Given the description of an element on the screen output the (x, y) to click on. 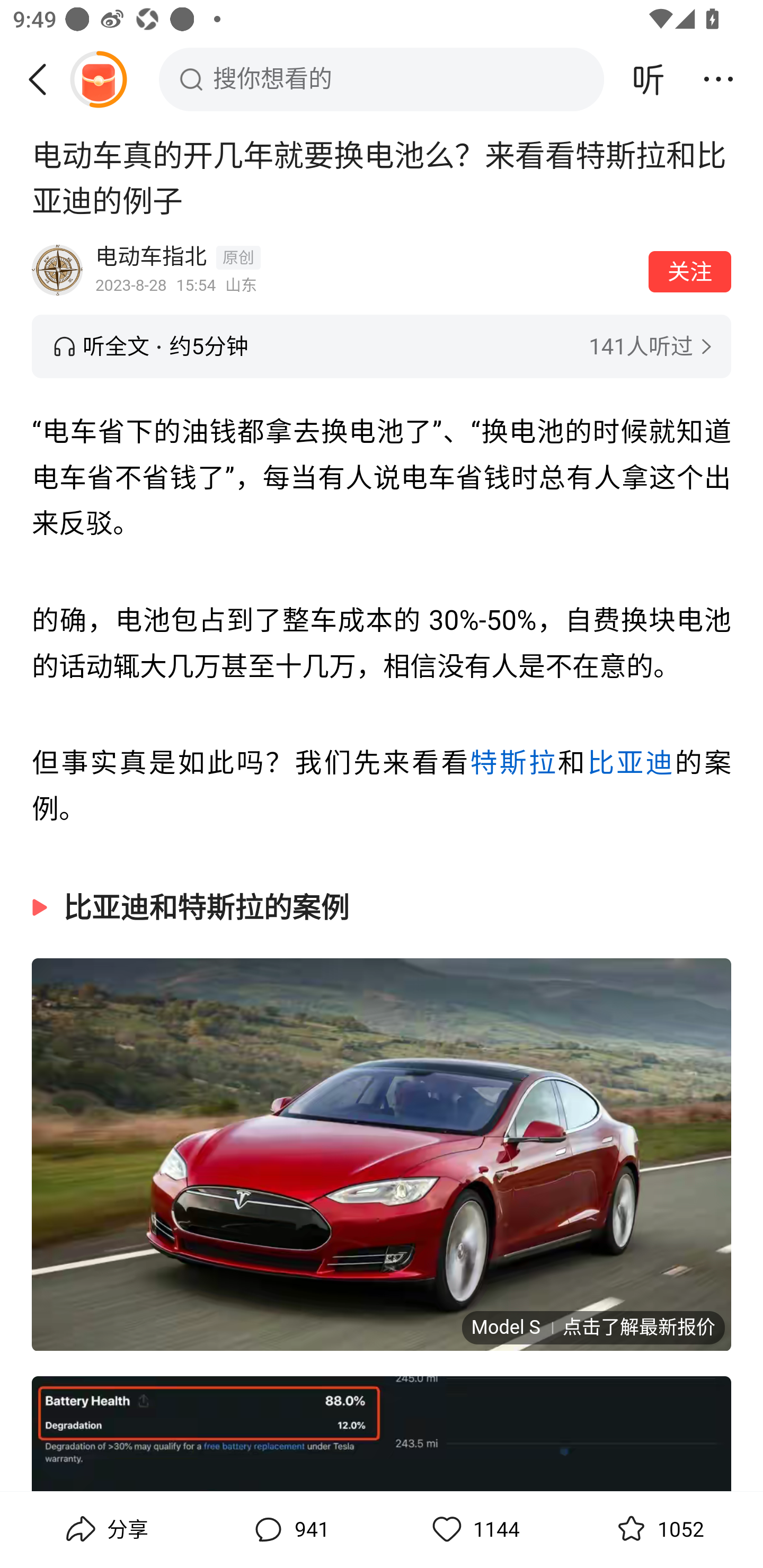
返回 (44, 78)
听头条 (648, 78)
更多操作 (718, 78)
搜你想看的 搜索框，搜你想看的 (381, 79)
阅读赚金币 (98, 79)
作者：电动车指北，2023-8-28 15:54发布，山东，原创 (365, 270)
关注作者 (689, 270)
听全文 约5分钟 141人听过 (381, 346)
Model S  点击了解最新报价 Model S点击了解最新报价 (381, 1153)
Model S点击了解最新报价 (592, 1326)
图片，点击识别内容 (381, 1433)
分享 (104, 1529)
评论,941 941 (288, 1529)
收藏,1052 1052 (658, 1529)
